Given the description of an element on the screen output the (x, y) to click on. 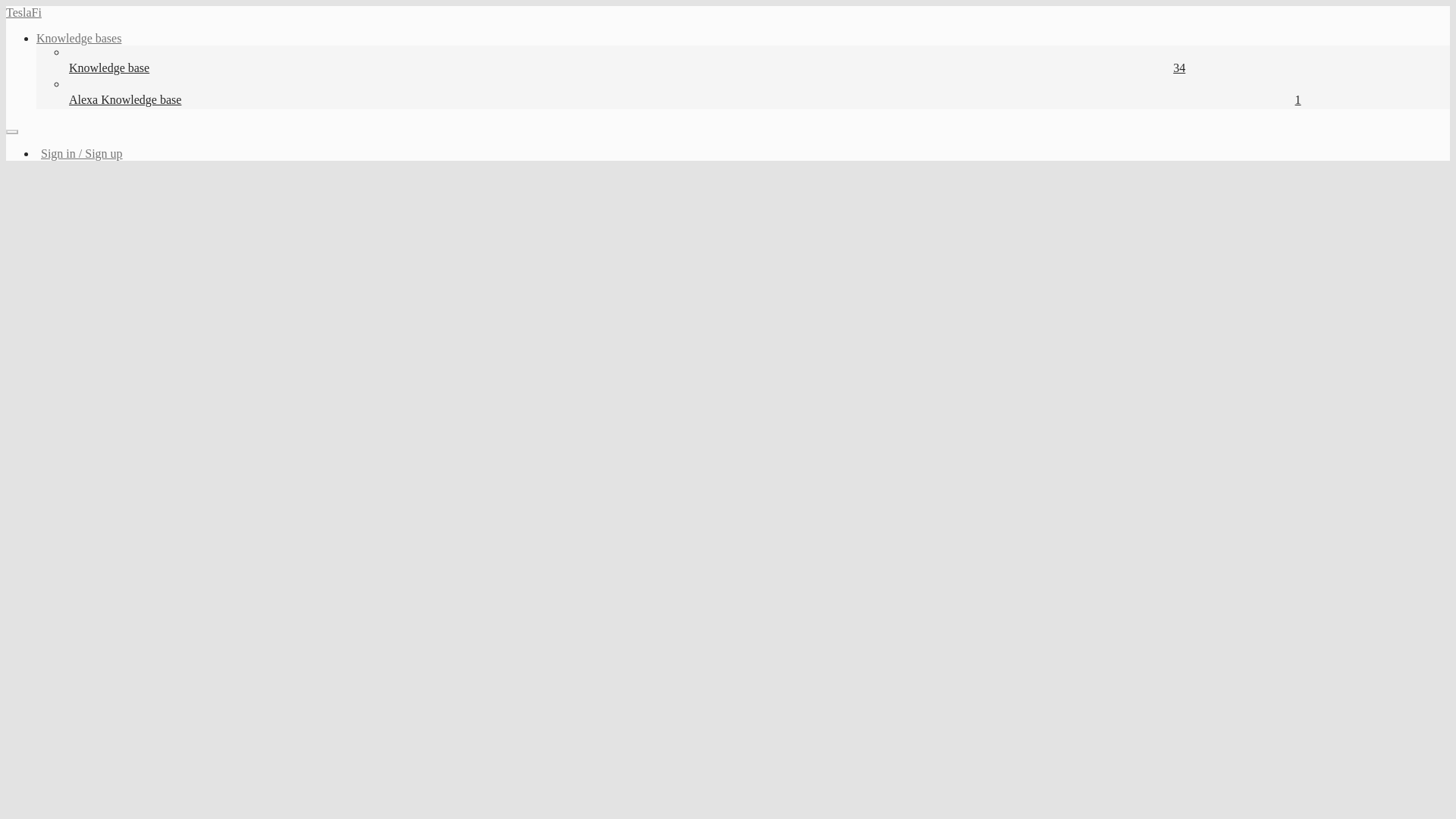
Knowledge bases (78, 38)
TeslaFi (23, 11)
